Given the description of an element on the screen output the (x, y) to click on. 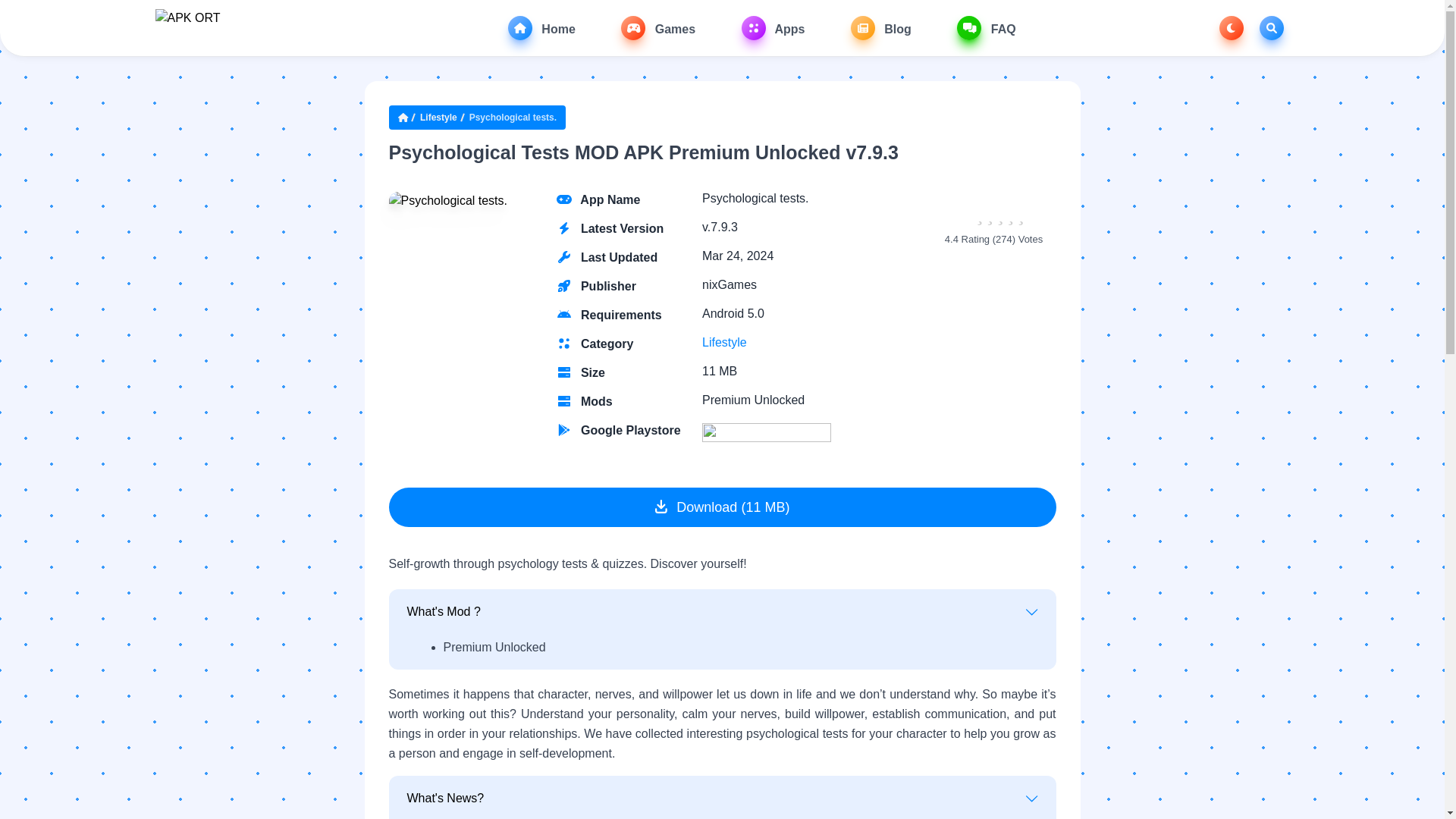
Blog (880, 27)
Home (541, 27)
Lifestyle (438, 117)
Apps (773, 27)
Lifestyle (723, 341)
Games (658, 27)
Dark Mode (1231, 27)
Search (1270, 27)
FAQ (985, 27)
